Given the description of an element on the screen output the (x, y) to click on. 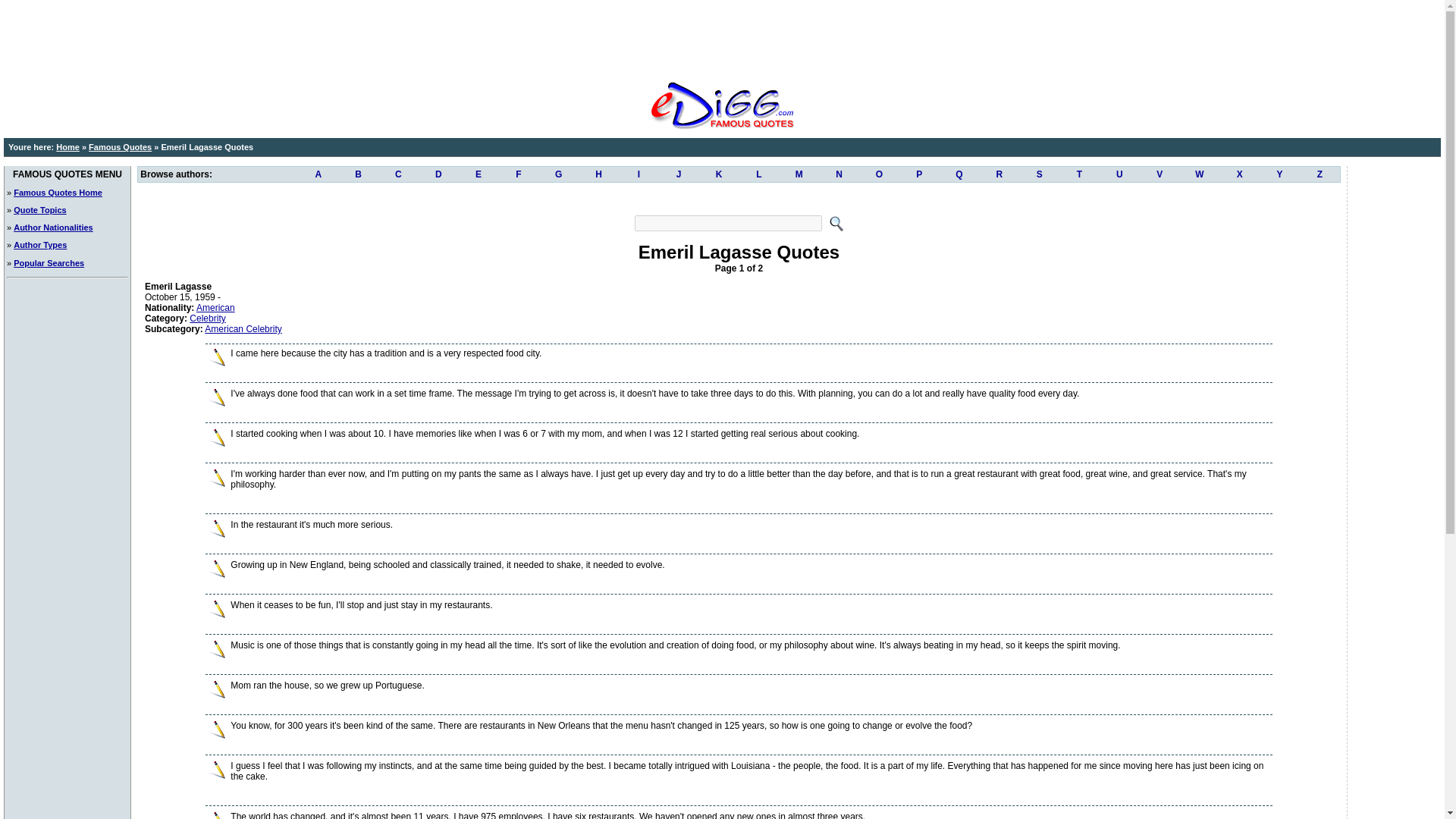
L (758, 174)
B (357, 174)
Z (1319, 174)
Author Nationalities (53, 226)
G (558, 174)
F (517, 174)
Advertisement (721, 38)
Advertisement (737, 197)
C (398, 174)
A (317, 174)
P (919, 174)
H (598, 174)
E (478, 174)
R (998, 174)
K (718, 174)
